Given the description of an element on the screen output the (x, y) to click on. 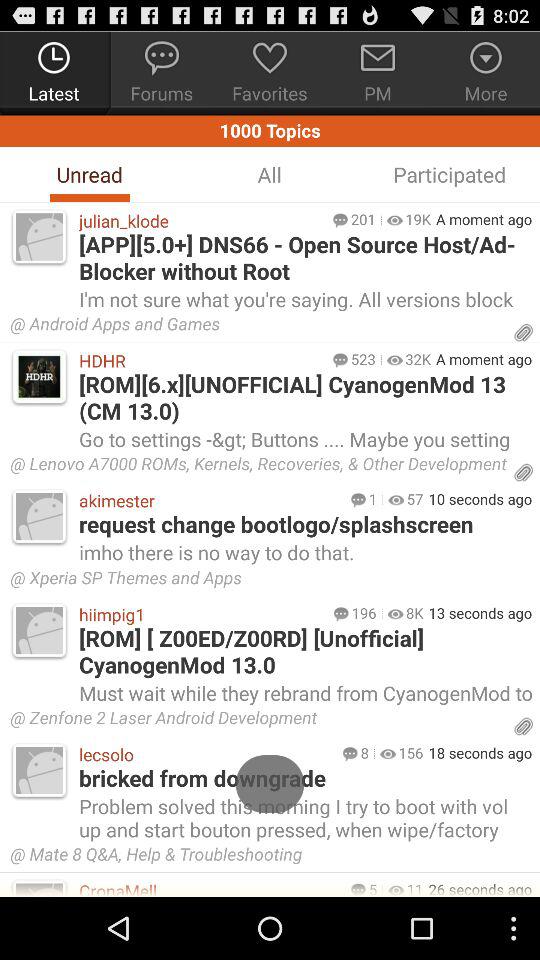
click lecsolo icon (205, 754)
